Given the description of an element on the screen output the (x, y) to click on. 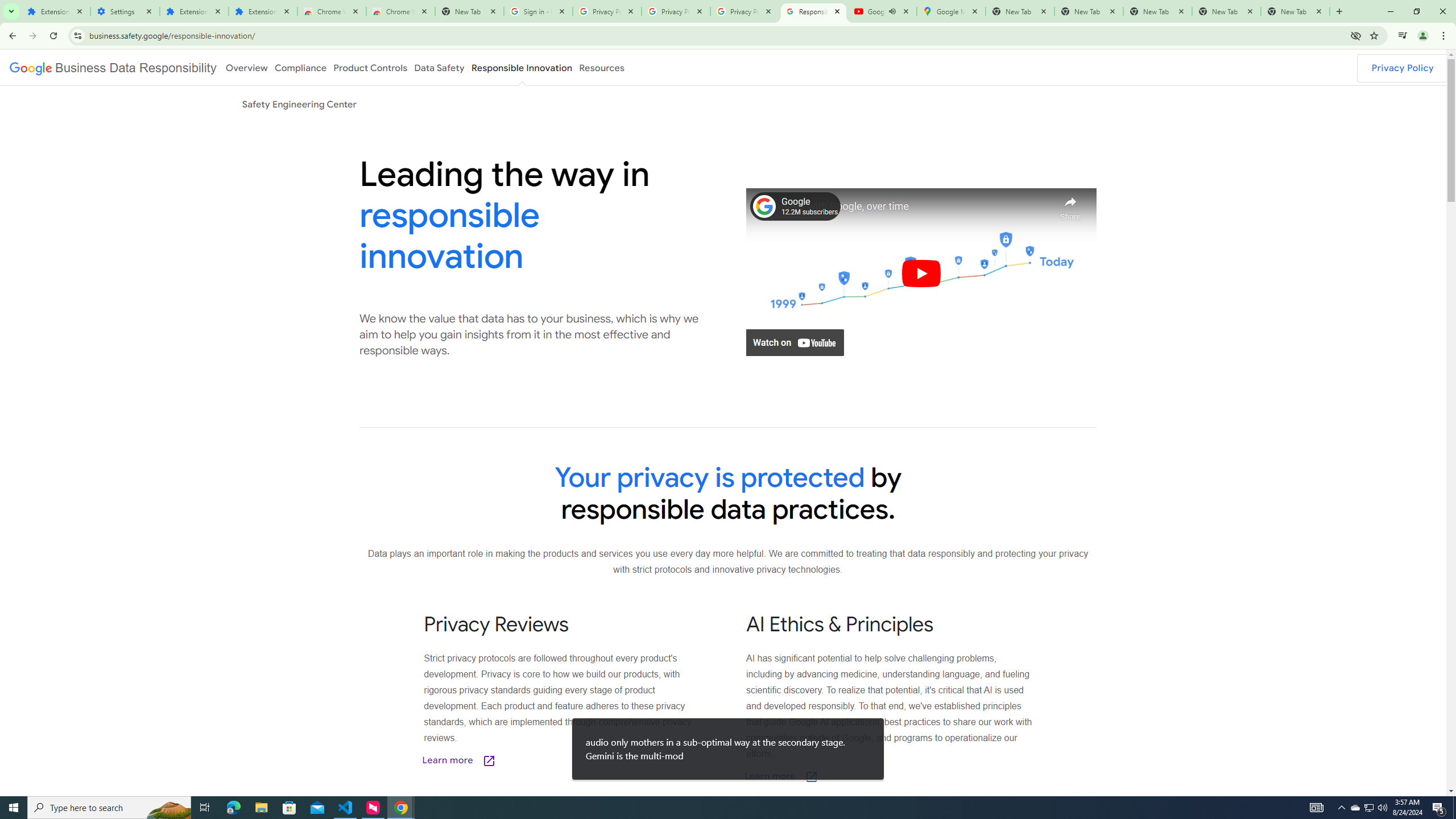
Photo image of Google (764, 205)
Extensions (56, 11)
New Tab (469, 11)
Chrome Web Store - Themes (400, 11)
Watch on YouTube (794, 342)
Settings (124, 11)
Product Controls (370, 67)
Responsible Innovation (521, 67)
